Given the description of an element on the screen output the (x, y) to click on. 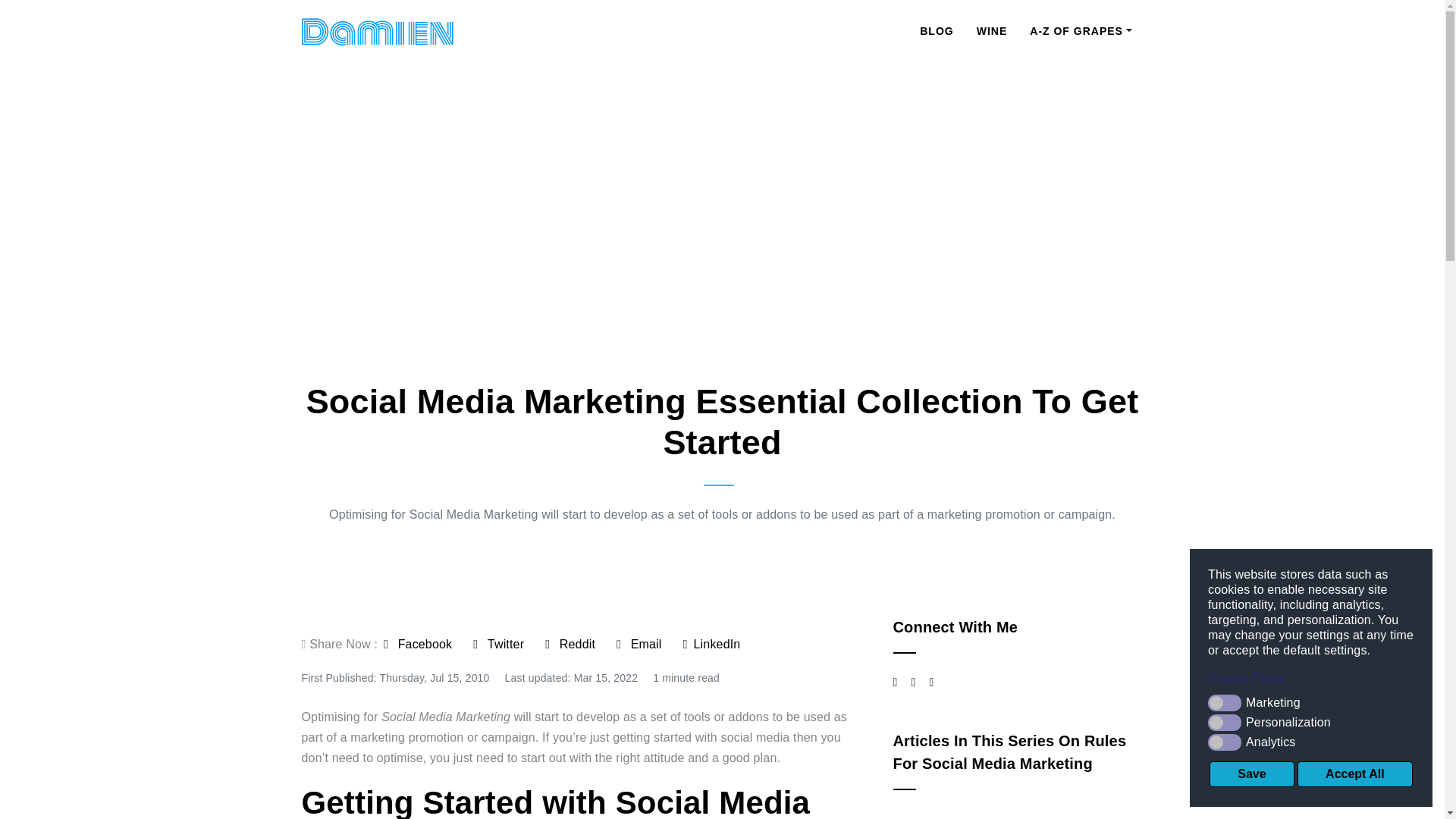
Twitter (498, 644)
Save (1251, 774)
Rules For Social Media Marketing (1009, 752)
Email (638, 644)
Reddit (569, 644)
Privacy Policy (1310, 677)
Marketing (1310, 702)
Accept All (1354, 774)
LinkedIn (711, 644)
